Given the description of an element on the screen output the (x, y) to click on. 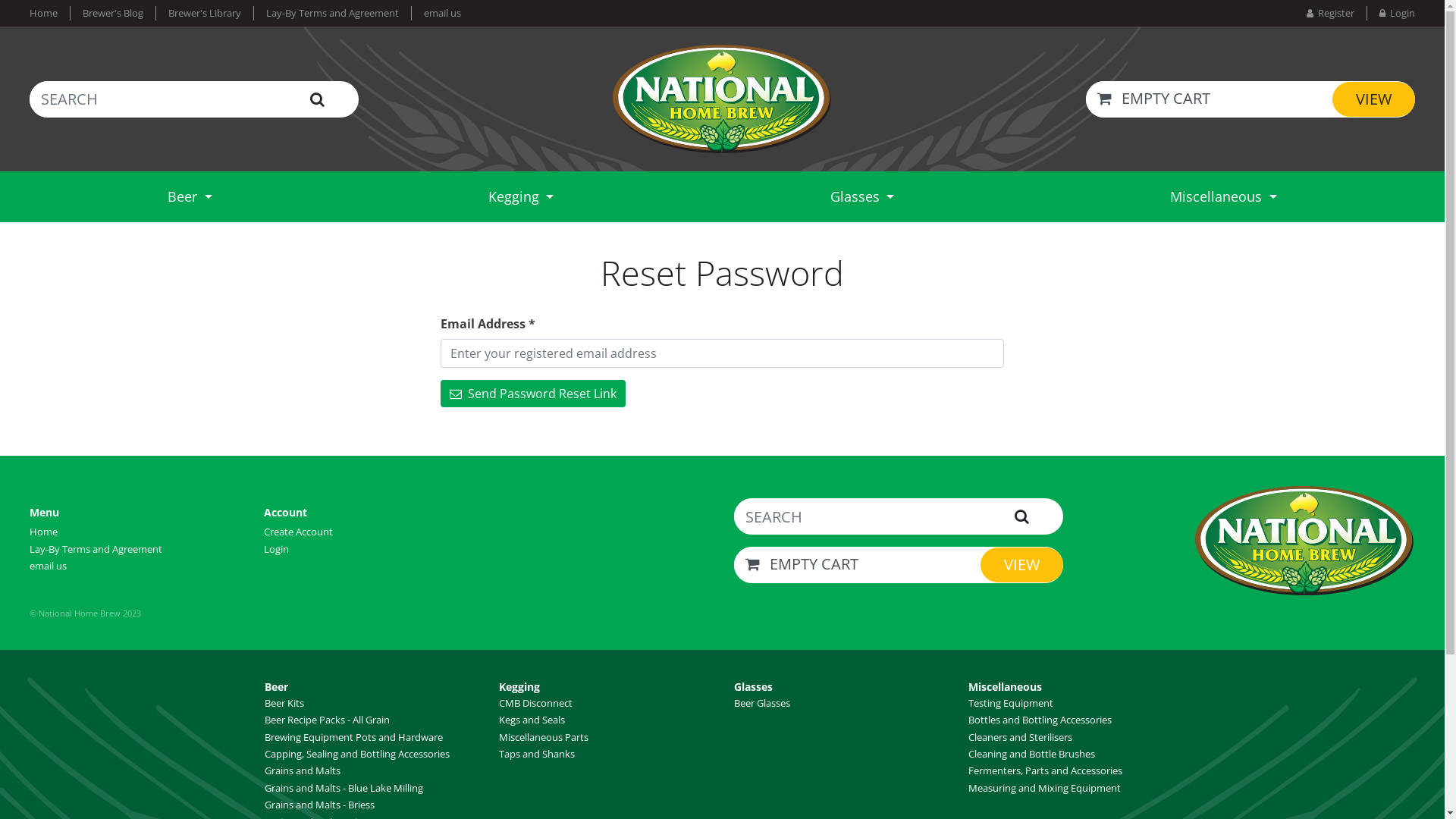
Measuring and Mixing Equipment Element type: text (1044, 787)
Glasses Element type: text (862, 196)
VIEW Element type: text (1373, 98)
Lay-By Terms and Agreement Element type: text (95, 548)
email us Element type: text (436, 13)
Create Account Element type: text (297, 531)
Kegging Element type: text (518, 686)
Brewing Equipment Pots and Hardware Element type: text (353, 736)
Cleaners and Sterilisers Element type: text (1020, 736)
Home Element type: text (43, 531)
Lay-By Terms and Agreement Element type: text (332, 13)
Grains and Malts - Blue Lake Milling Element type: text (343, 787)
Beer Recipe Packs - All Grain Element type: text (326, 719)
  Login Element type: text (1390, 13)
Beer Kits Element type: text (284, 702)
Kegs and Seals Element type: text (531, 719)
Grains and Malts Element type: text (302, 770)
CMB Disconnect Element type: text (535, 702)
Taps and Shanks Element type: text (536, 753)
Brewer's Blog Element type: text (112, 13)
Cleaning and Bottle Brushes Element type: text (1031, 753)
Home Element type: text (49, 13)
Login Element type: text (275, 548)
Beer Element type: text (189, 196)
Bottles and Bottling Accessories Element type: text (1039, 719)
Miscellaneous Element type: text (1222, 196)
Grains and Malts - Briess Element type: text (319, 804)
Testing Equipment Element type: text (1010, 702)
Glasses Element type: text (753, 686)
Miscellaneous Element type: text (1004, 686)
VIEW Element type: text (1021, 564)
email us Element type: text (47, 565)
Miscellaneous Parts Element type: text (543, 736)
Brewer's Library Element type: text (204, 13)
  Register Element type: text (1336, 13)
Beer Element type: text (276, 686)
Capping, Sealing and Bottling Accessories Element type: text (356, 753)
  Send Password Reset Link Element type: text (532, 393)
Beer Glasses Element type: text (762, 702)
Kegging Element type: text (520, 196)
Fermenters, Parts and Accessories Element type: text (1045, 770)
